Given the description of an element on the screen output the (x, y) to click on. 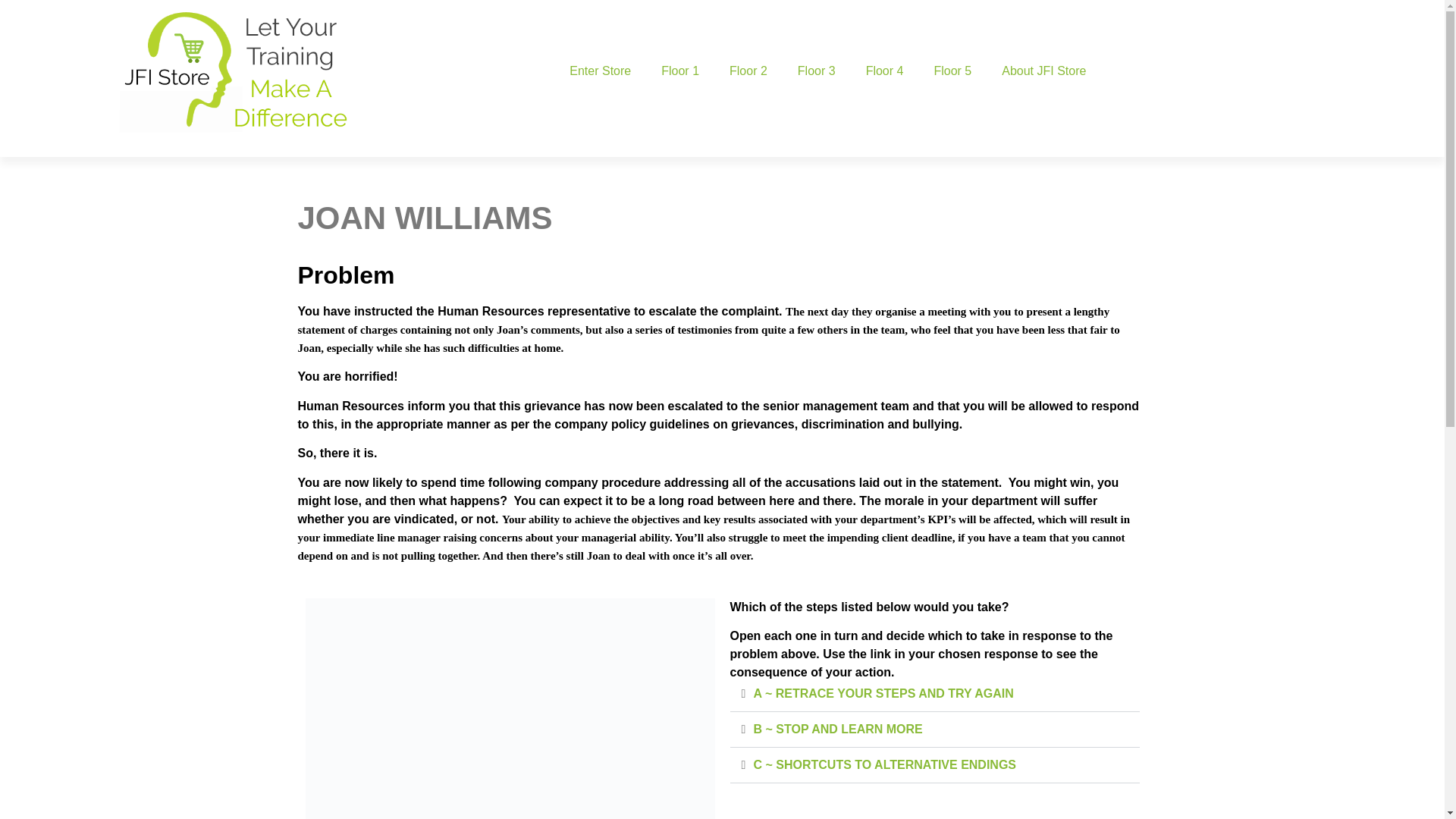
Floor 2 (748, 71)
Floor 5 (952, 71)
About JFI Store (1043, 71)
Enter Store (600, 71)
Floor 1 (680, 71)
Floor 4 (884, 71)
Floor 3 (816, 71)
